Given the description of an element on the screen output the (x, y) to click on. 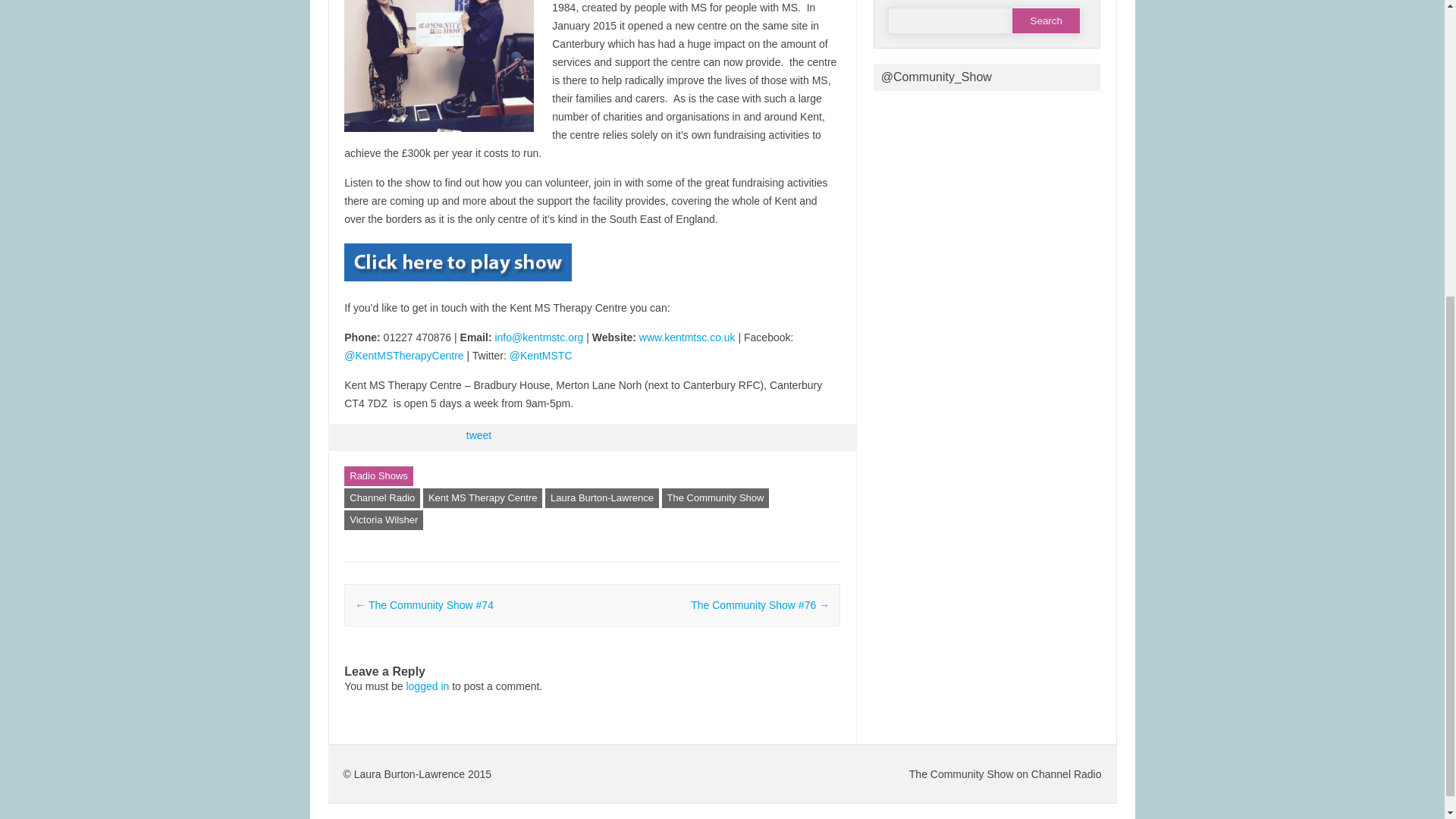
Search (1045, 20)
Laura Burton-Lawrence (601, 497)
Radio Shows (378, 476)
Kent MS Therapy Centre (483, 497)
The Community Show (716, 497)
tweet (478, 435)
www.kentmtsc.co.uk (687, 337)
Victoria Wilsher (383, 519)
logged in (427, 686)
Channel Radio (381, 497)
Search (1045, 20)
